Given the description of an element on the screen output the (x, y) to click on. 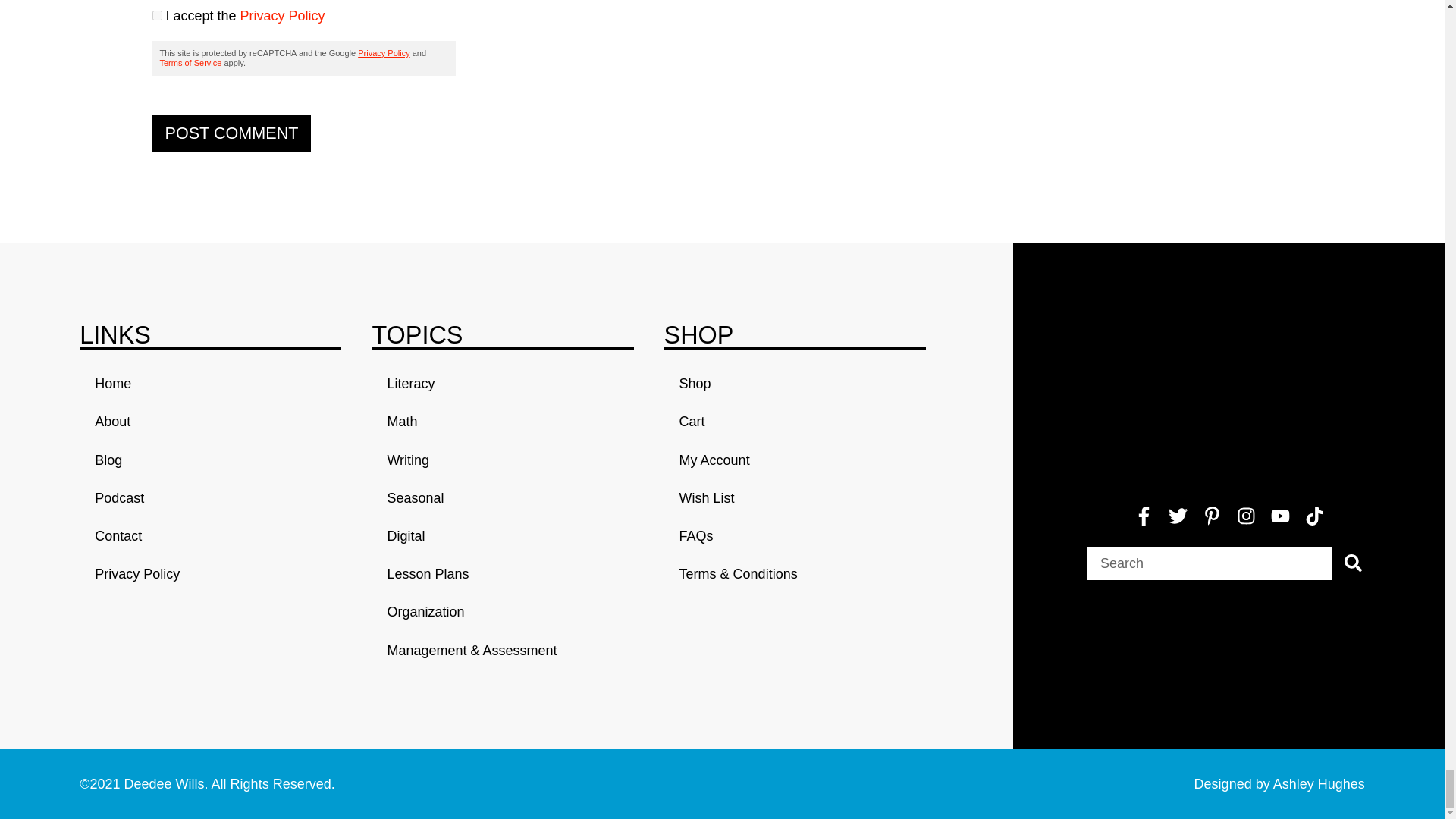
1 (156, 15)
Post Comment (231, 133)
